Given the description of an element on the screen output the (x, y) to click on. 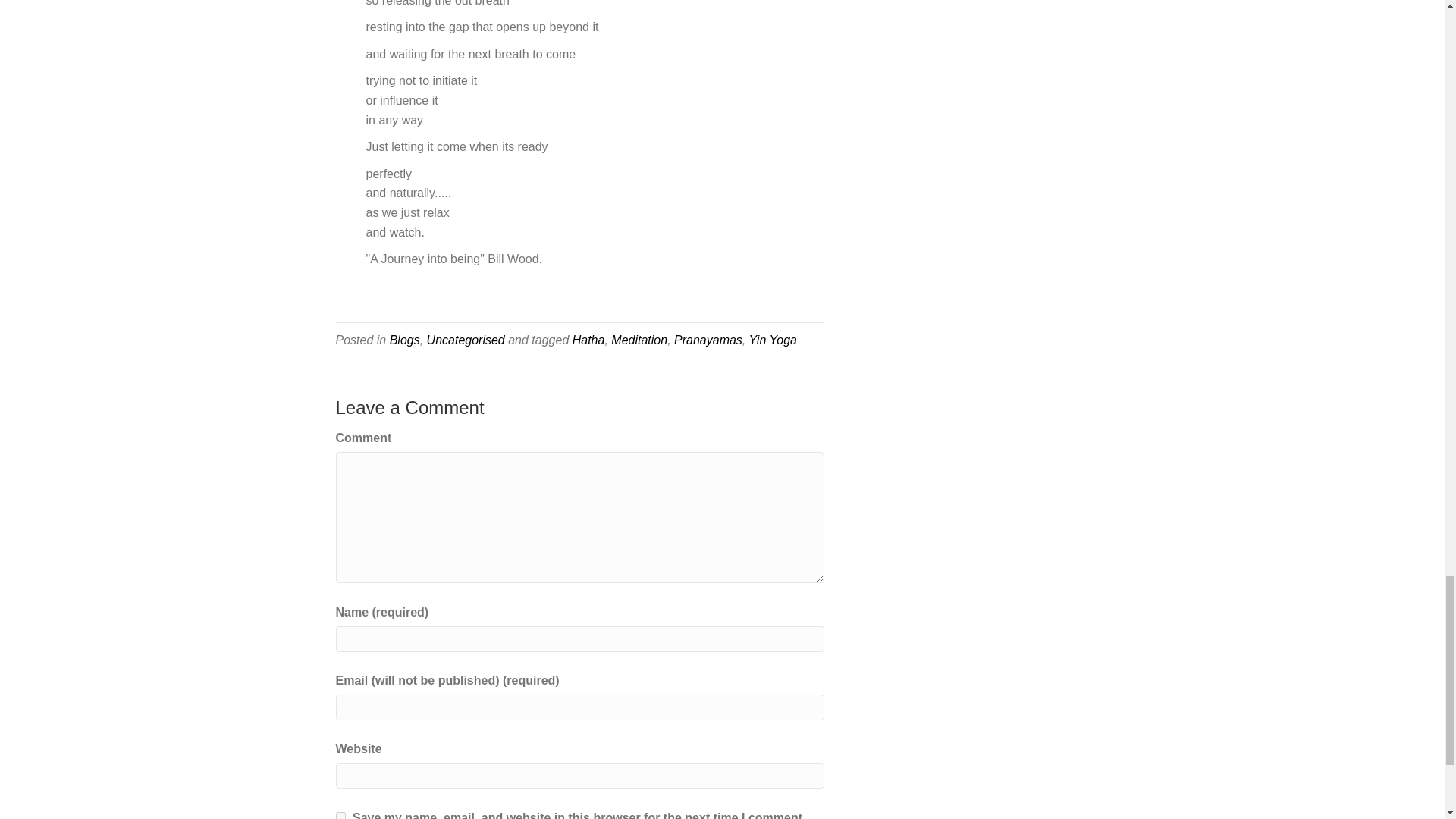
Blogs (405, 339)
Pranayamas (708, 339)
yes (339, 815)
Hatha (588, 339)
Yin Yoga (772, 339)
Meditation (638, 339)
Uncategorised (465, 339)
